Given the description of an element on the screen output the (x, y) to click on. 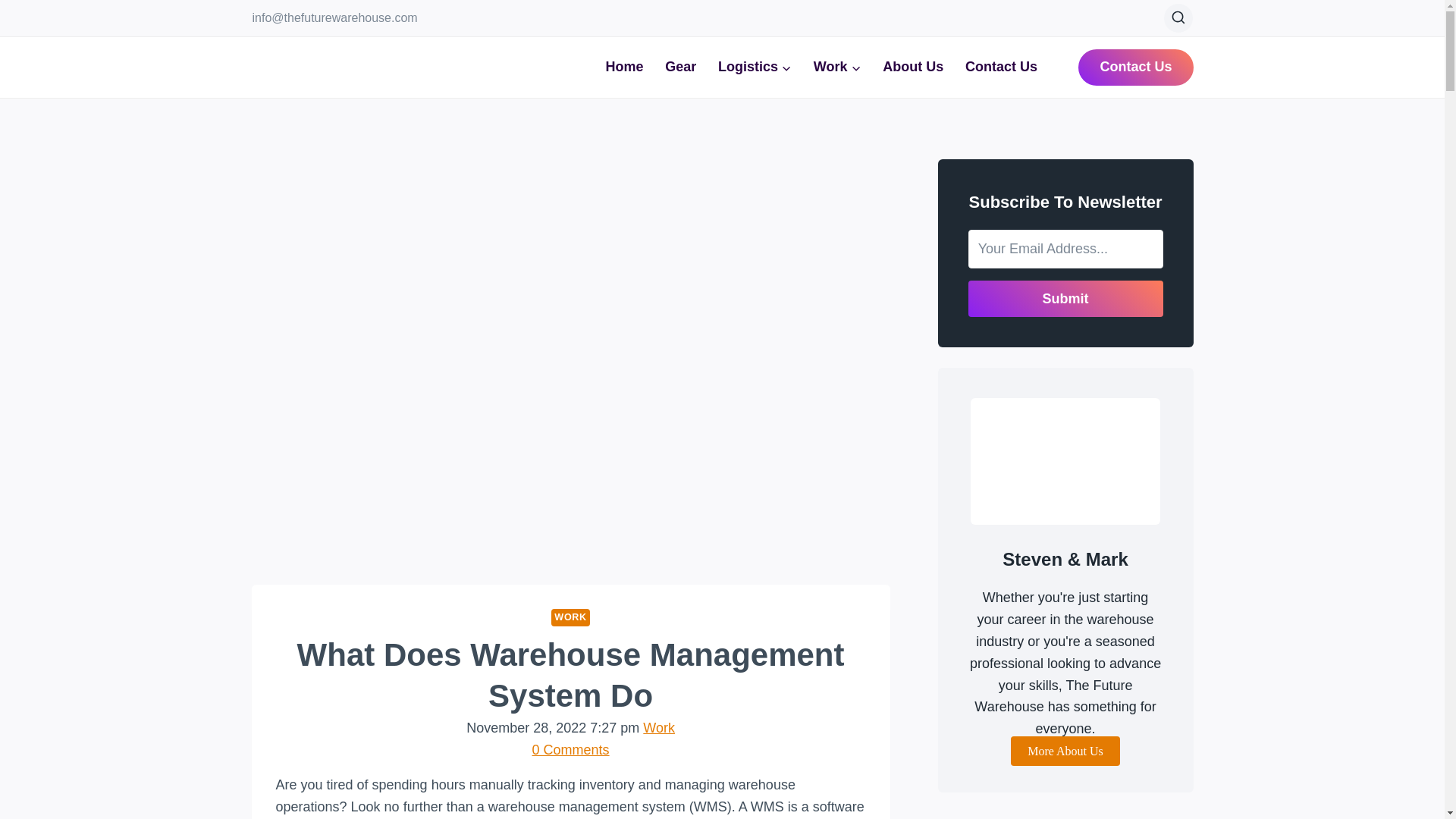
Work (836, 66)
About Us (913, 66)
Work (659, 727)
Gear (680, 66)
Contact Us (1001, 66)
Logistics (755, 66)
0 Comments (571, 749)
Contact Us (1135, 67)
WORK (570, 617)
Home (623, 66)
